Given the description of an element on the screen output the (x, y) to click on. 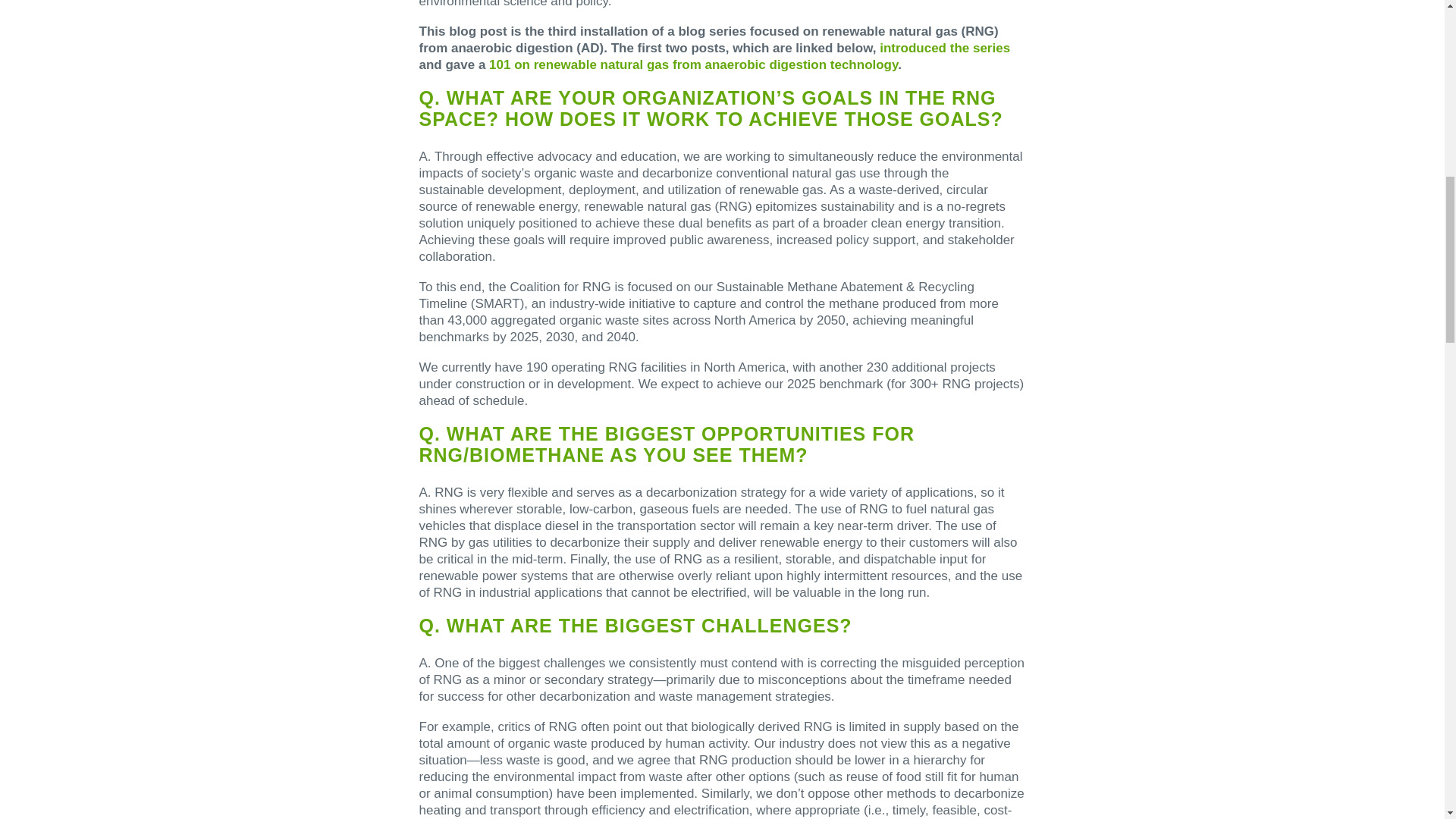
introduced the series (944, 47)
